Given the description of an element on the screen output the (x, y) to click on. 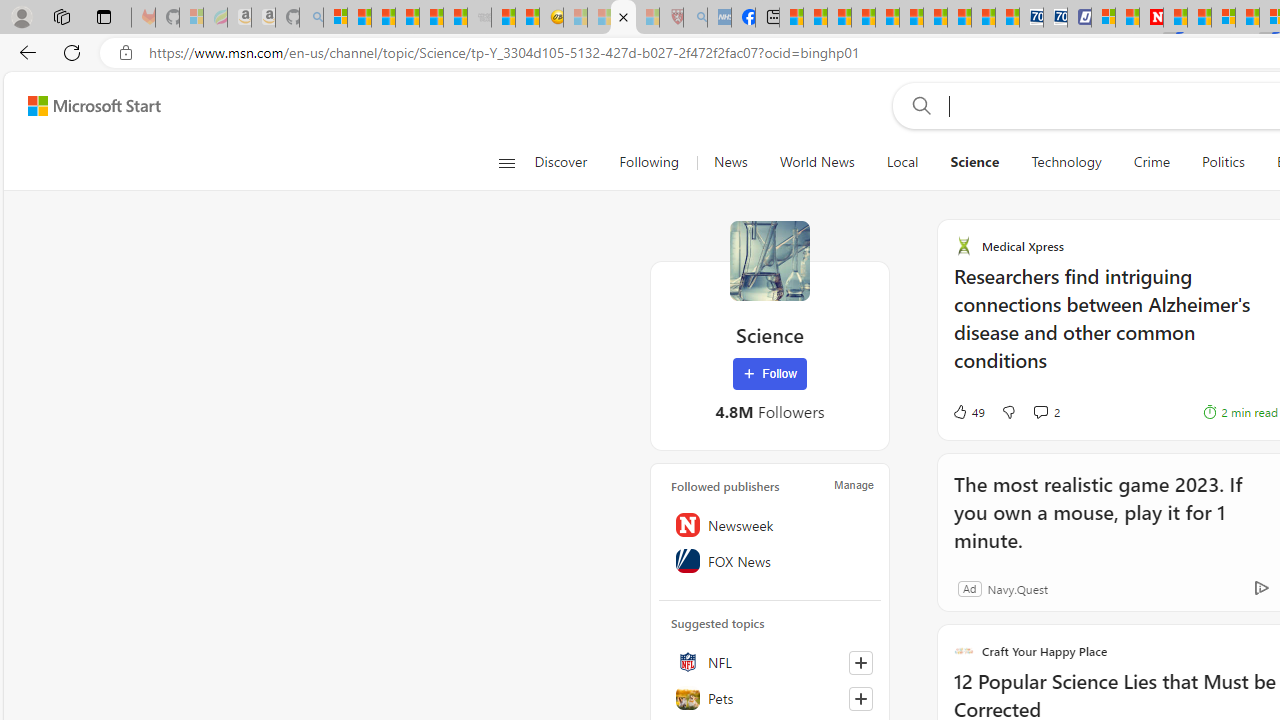
Combat Siege - Sleeping (479, 17)
Latest Politics News & Archive | Newsweek.com (1151, 17)
